Given the description of an element on the screen output the (x, y) to click on. 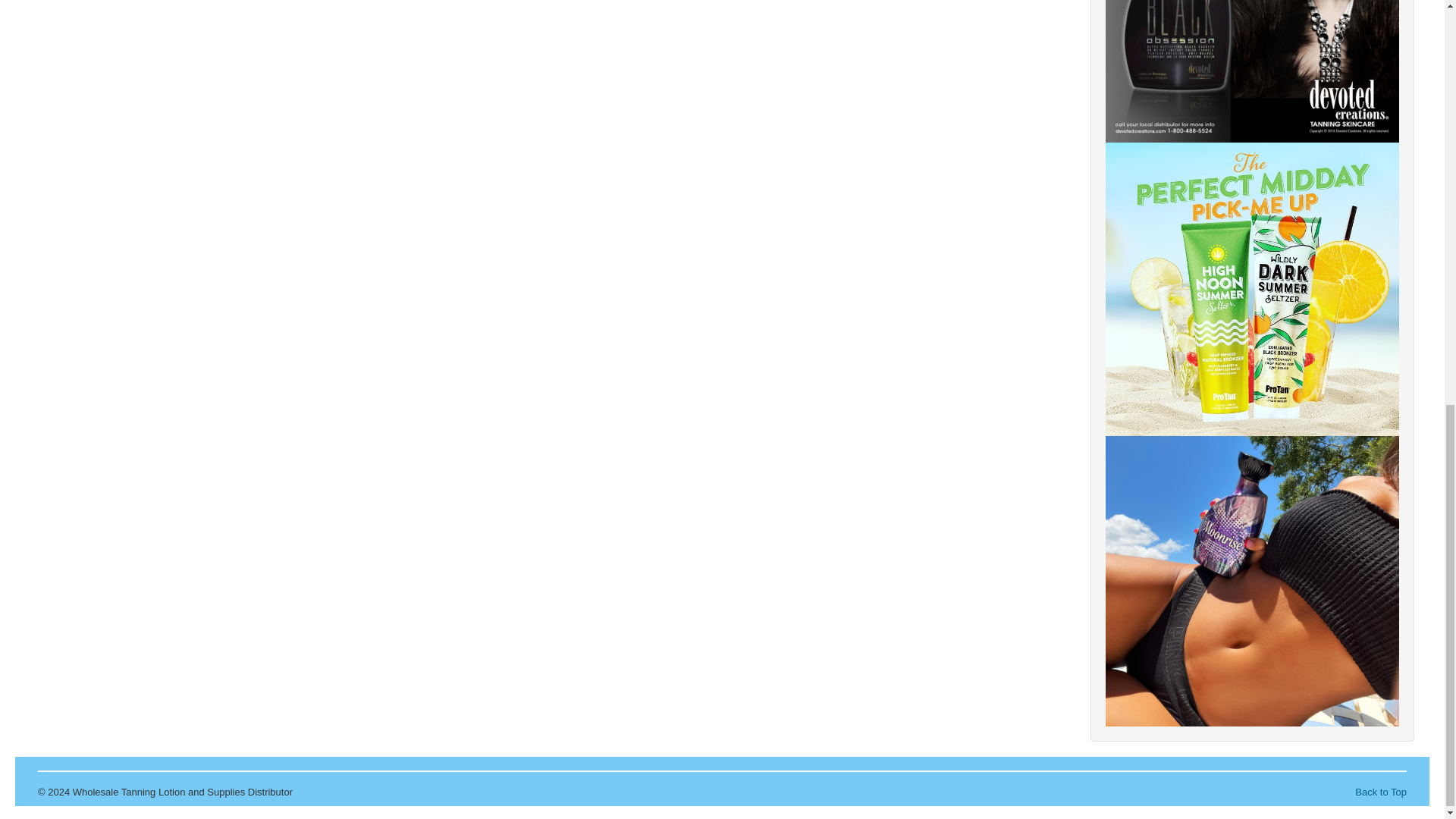
banner 9 (1252, 288)
Back to Top (1380, 791)
banner 10 (1252, 580)
